Given the description of an element on the screen output the (x, y) to click on. 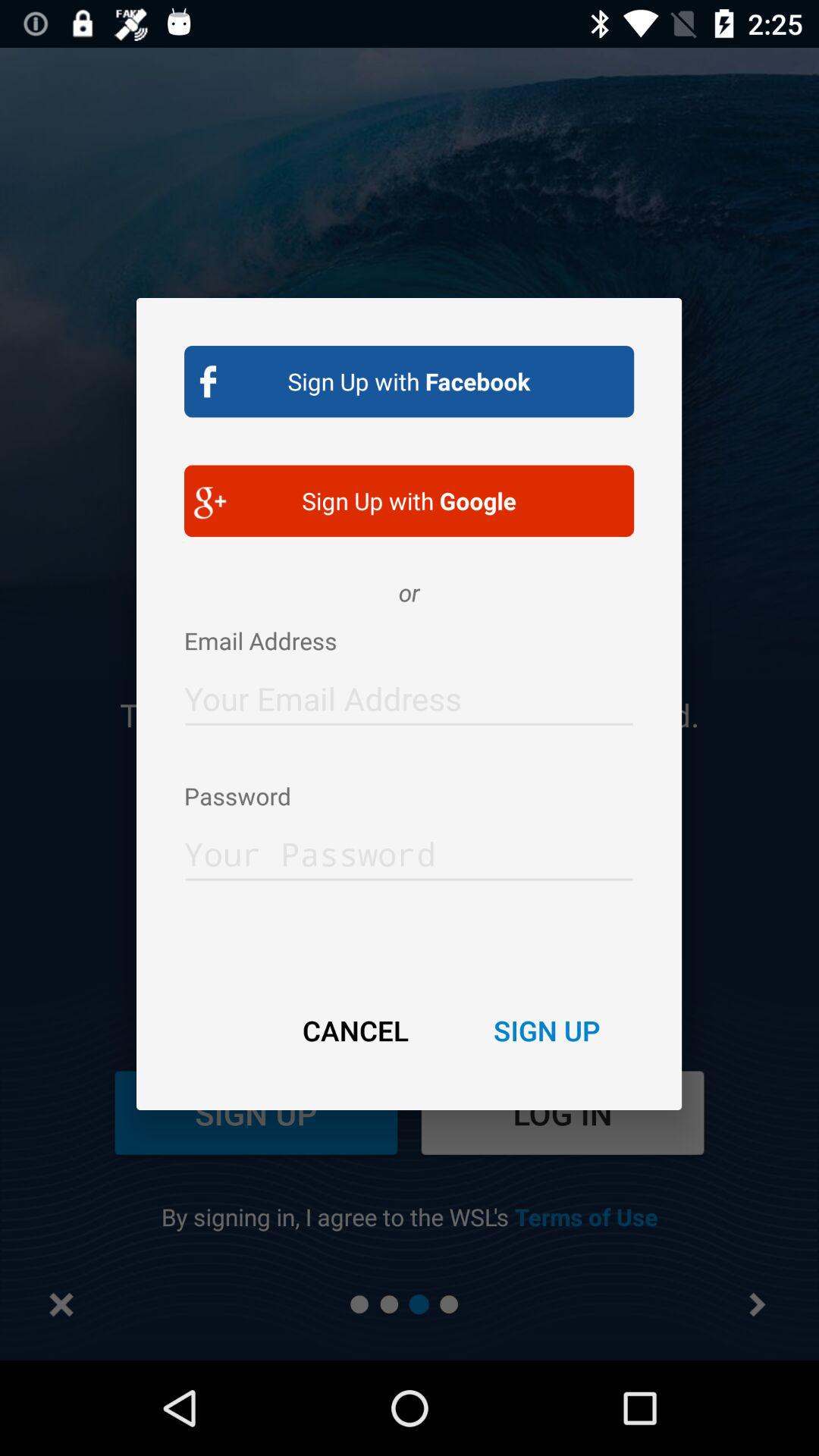
type password (408, 849)
